Given the description of an element on the screen output the (x, y) to click on. 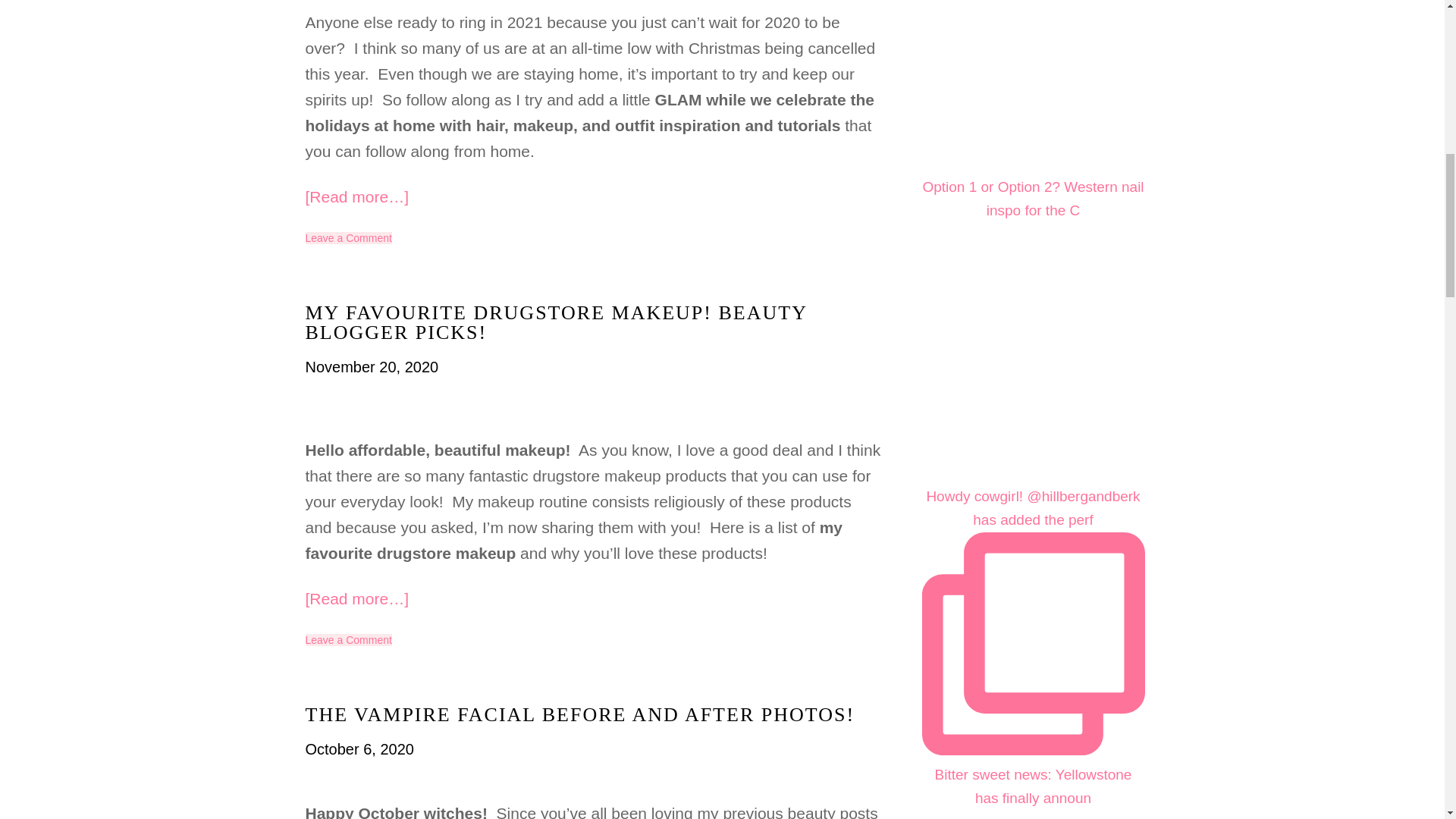
MY FAVOURITE DRUGSTORE MAKEUP! BEAUTY BLOGGER PICKS! (555, 322)
THE VAMPIRE FACIAL BEFORE AND AFTER PHOTOS! (579, 714)
Leave a Comment (347, 237)
Leave a Comment (347, 639)
